Given the description of an element on the screen output the (x, y) to click on. 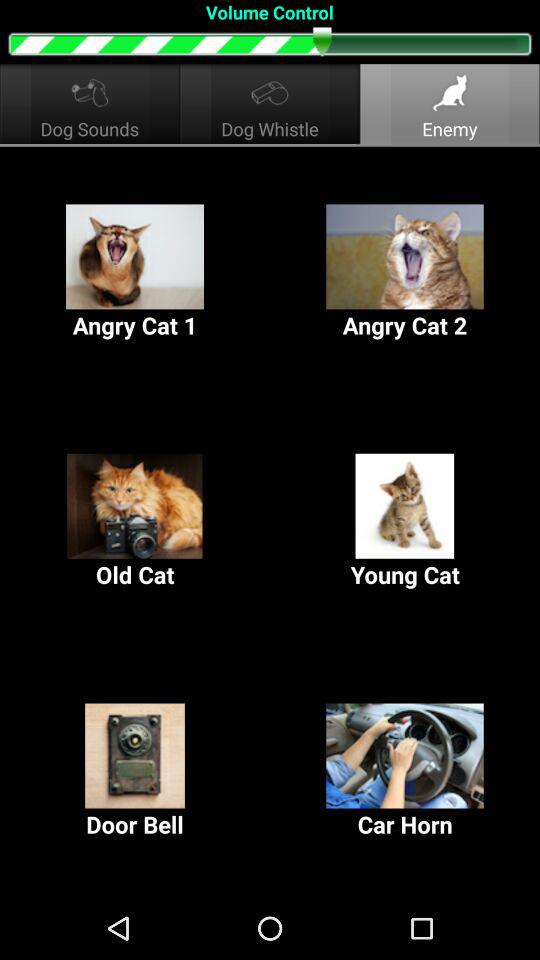
launch the icon to the left of the car horn item (135, 771)
